Given the description of an element on the screen output the (x, y) to click on. 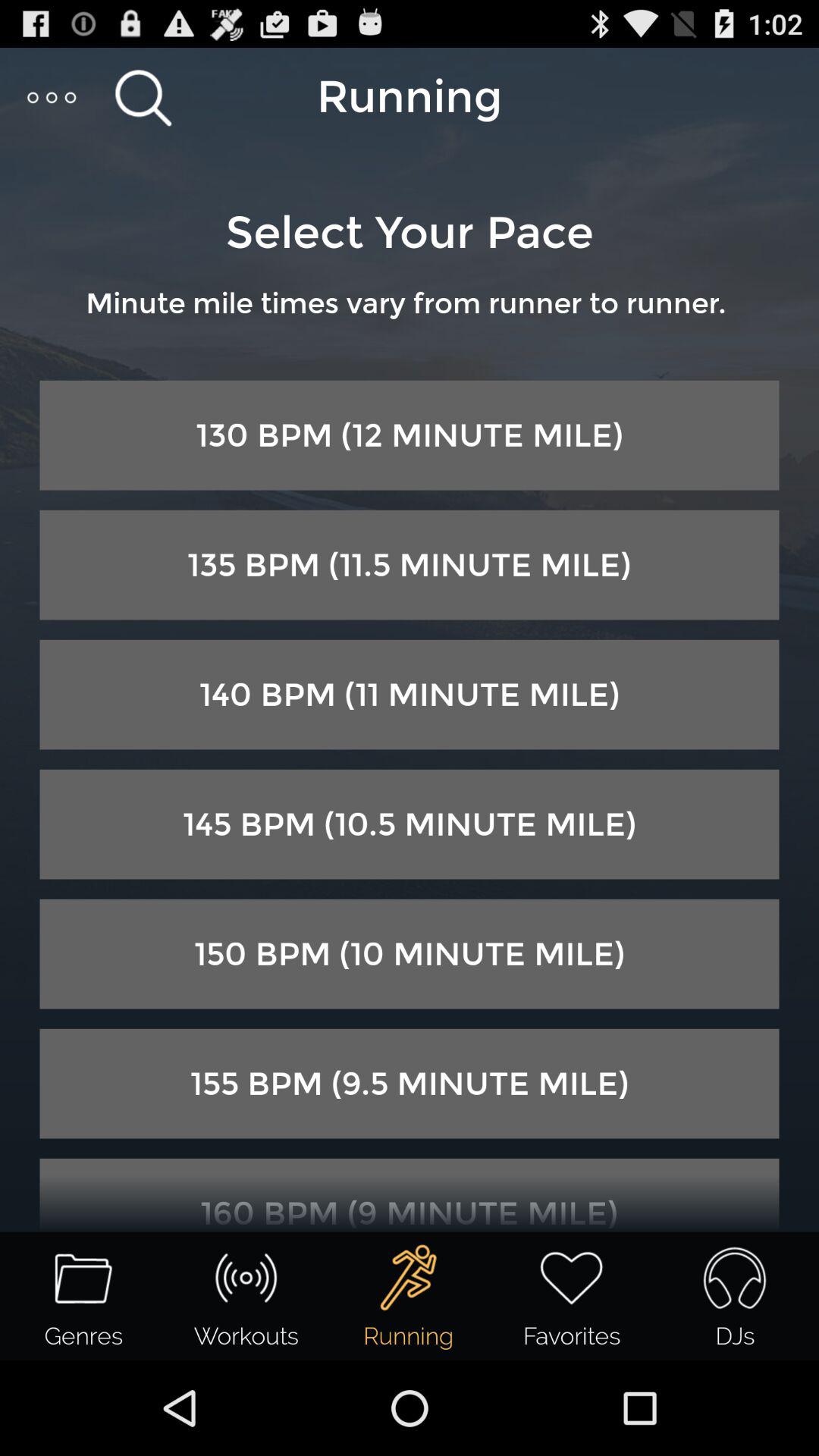
open search (142, 97)
